Given the description of an element on the screen output the (x, y) to click on. 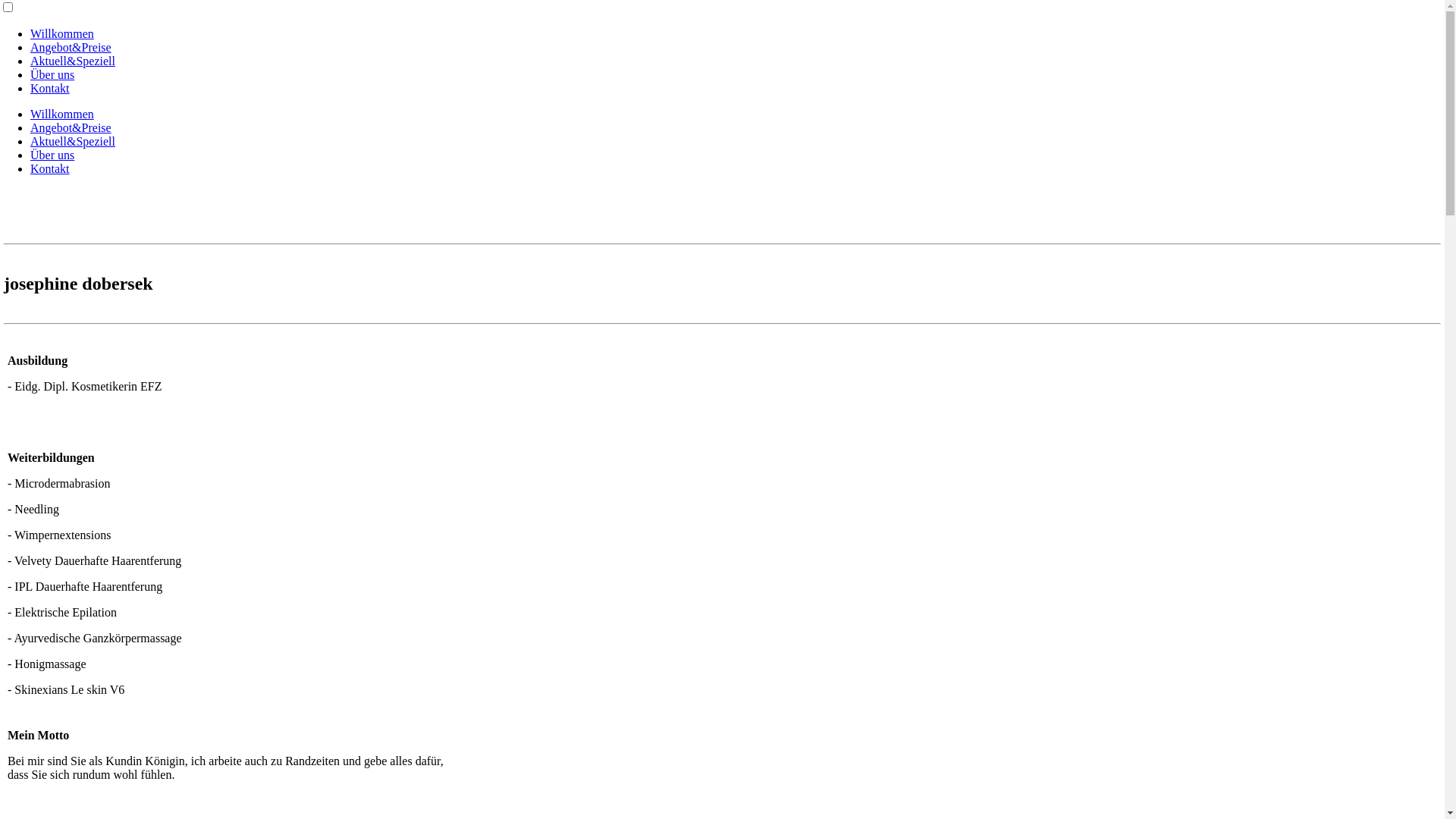
Willkommen Element type: text (62, 113)
Angebot&Preise Element type: text (70, 46)
Kontakt Element type: text (49, 87)
Kontakt Element type: text (49, 168)
Aktuell&Speziell Element type: text (72, 60)
Angebot&Preise Element type: text (70, 127)
Aktuell&Speziell Element type: text (72, 140)
Willkommen Element type: text (62, 33)
